Given the description of an element on the screen output the (x, y) to click on. 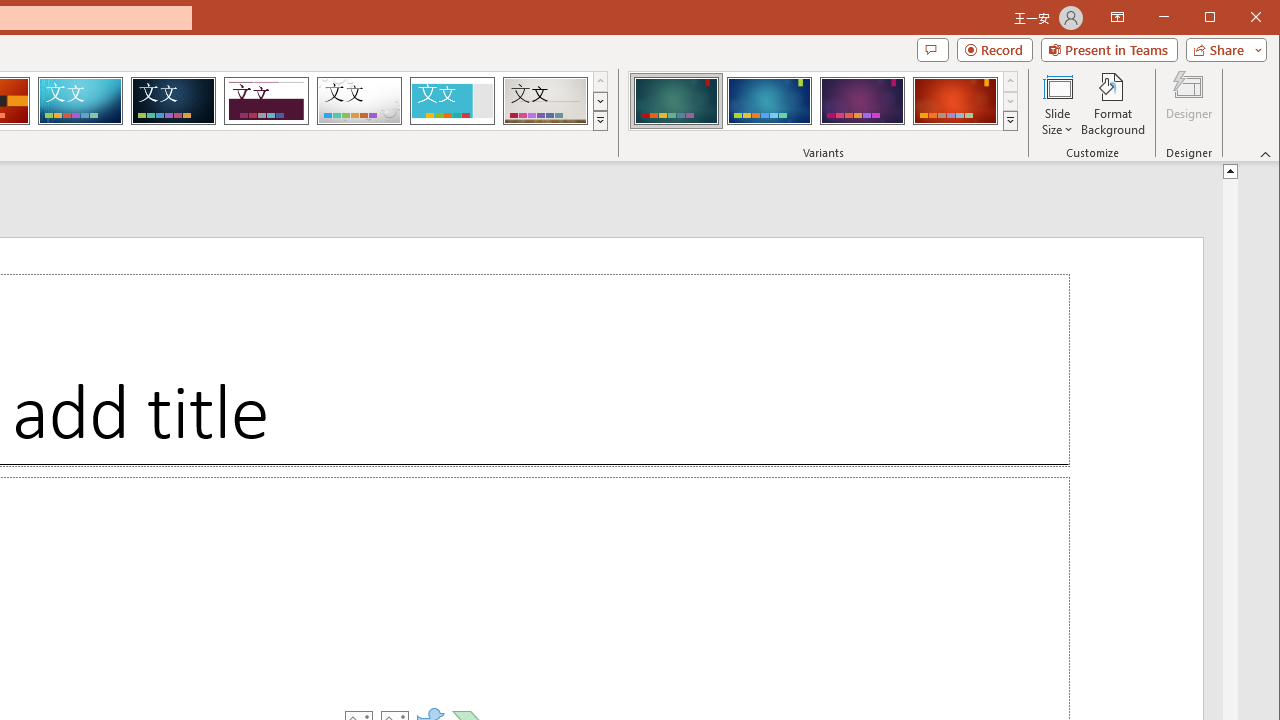
Ion Variant 2 (769, 100)
Ion Variant 1 (676, 100)
Variants (1010, 120)
AutomationID: ThemeVariantsGallery (824, 101)
Ion Variant 3 (862, 100)
Themes (600, 120)
Dividend (266, 100)
Damask (173, 100)
